Given the description of an element on the screen output the (x, y) to click on. 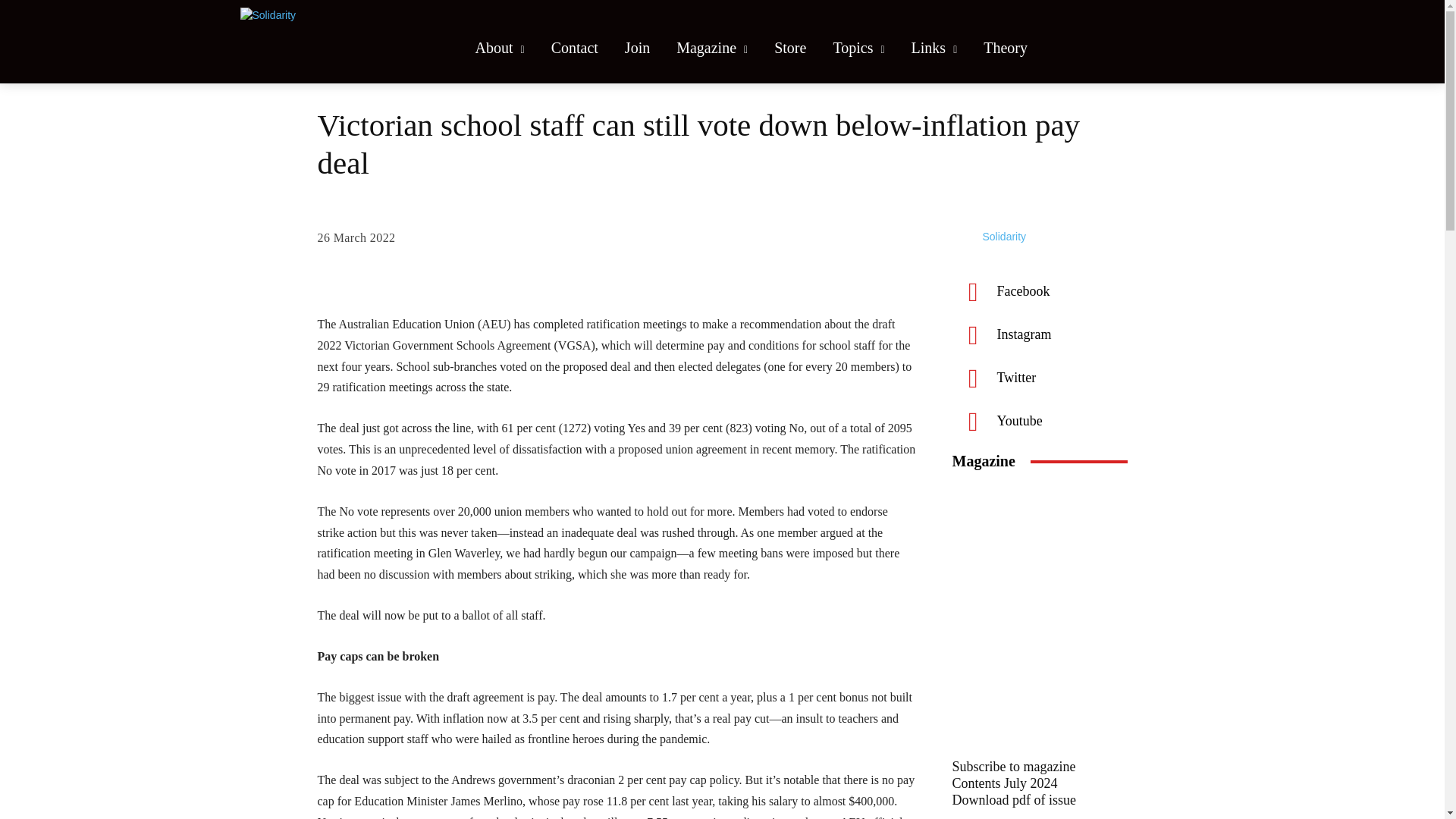
Contact (574, 47)
About (499, 47)
